Given the description of an element on the screen output the (x, y) to click on. 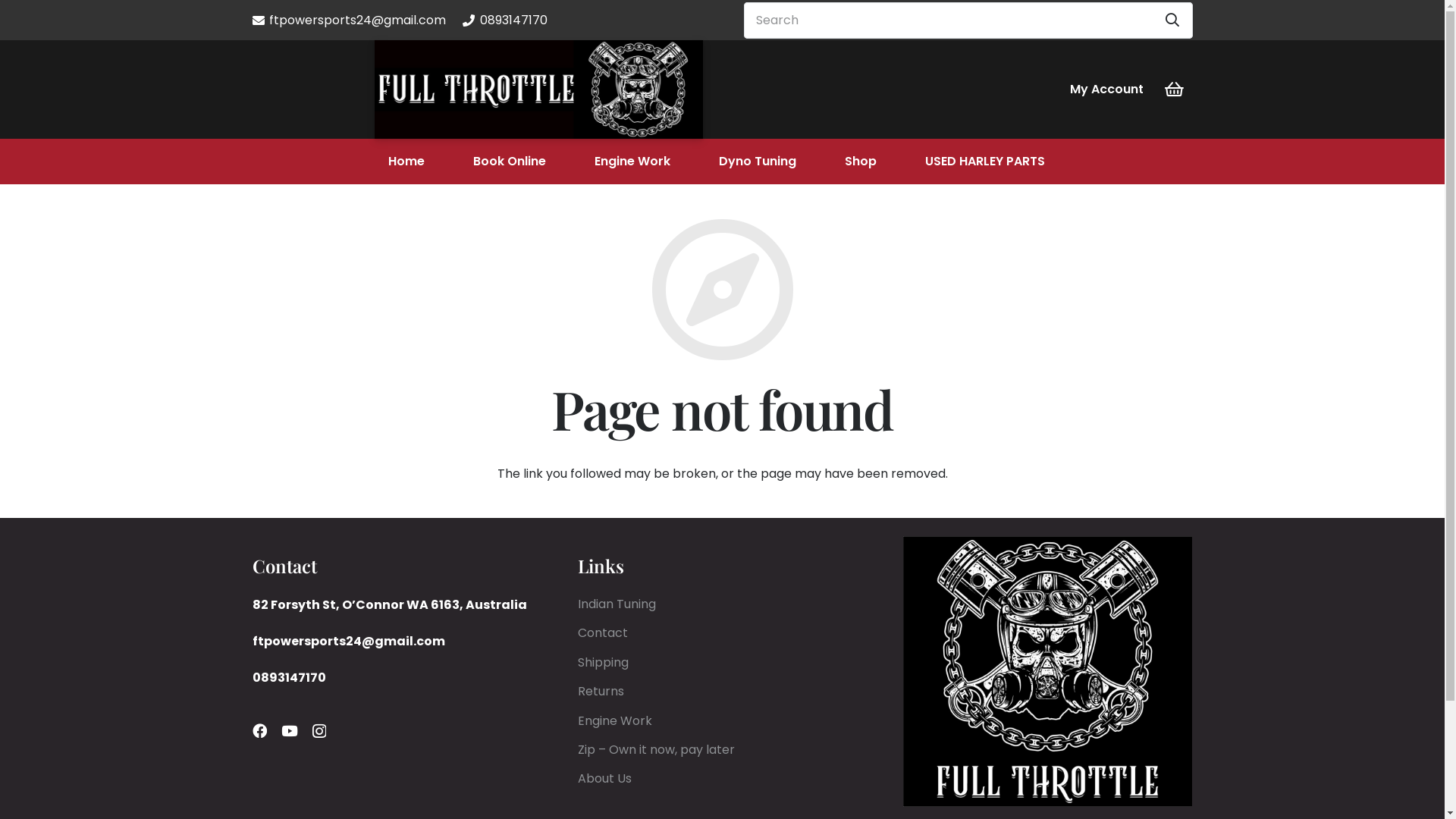
YouTube Element type: hover (289, 730)
Shop Element type: text (860, 161)
Indian Tuning Element type: text (616, 603)
My Account Element type: text (1106, 88)
Engine Work Element type: text (632, 161)
USED HARLEY PARTS Element type: text (984, 161)
Dyno Tuning Element type: text (757, 161)
Book Online Element type: text (509, 161)
0 Element type: text (1173, 89)
About Us Element type: text (604, 778)
Returns Element type: text (600, 690)
Contact Element type: text (602, 632)
Facebook Element type: hover (258, 730)
Instagram Element type: hover (319, 731)
Engine Work Element type: text (614, 720)
Home Element type: text (406, 161)
Shipping Element type: text (602, 662)
